Given the description of an element on the screen output the (x, y) to click on. 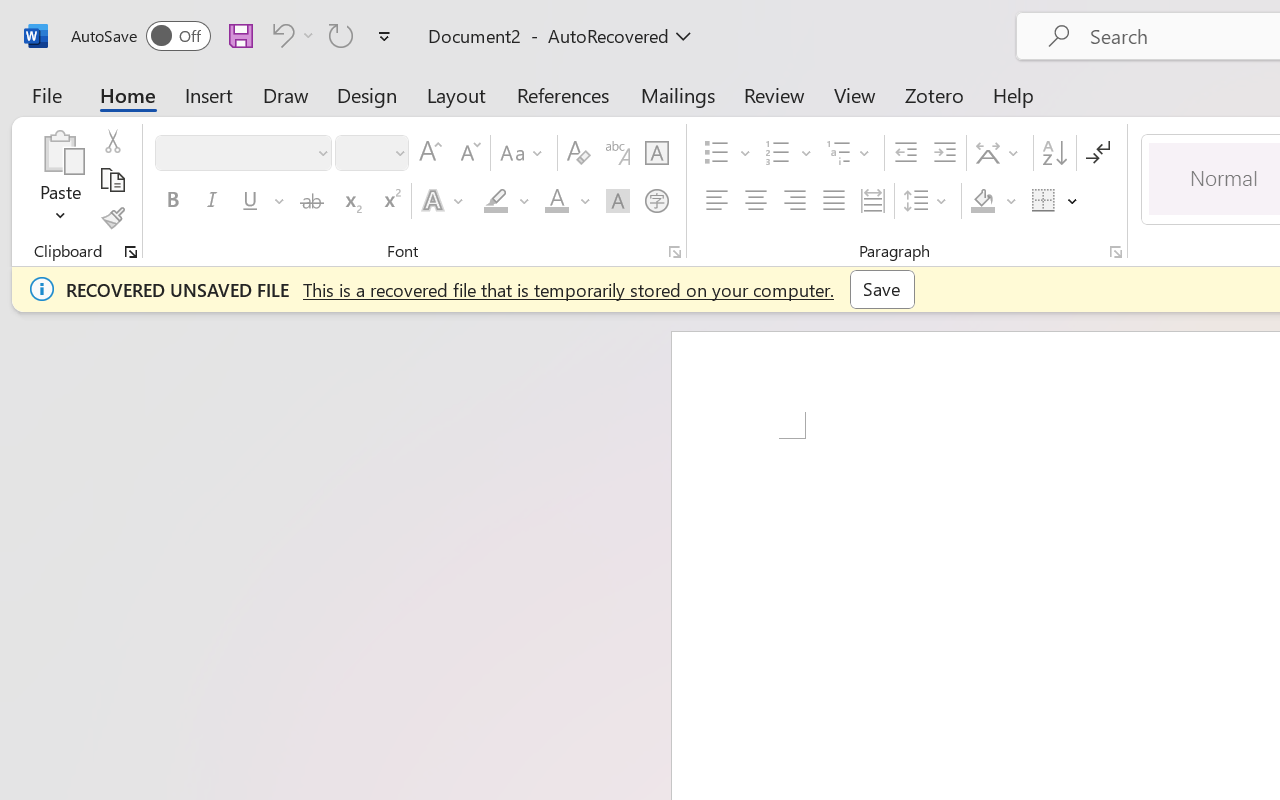
Character Shading (618, 201)
Shading (993, 201)
Center (756, 201)
Office Clipboard... (131, 252)
Change Case (524, 153)
Sort... (1054, 153)
